Given the description of an element on the screen output the (x, y) to click on. 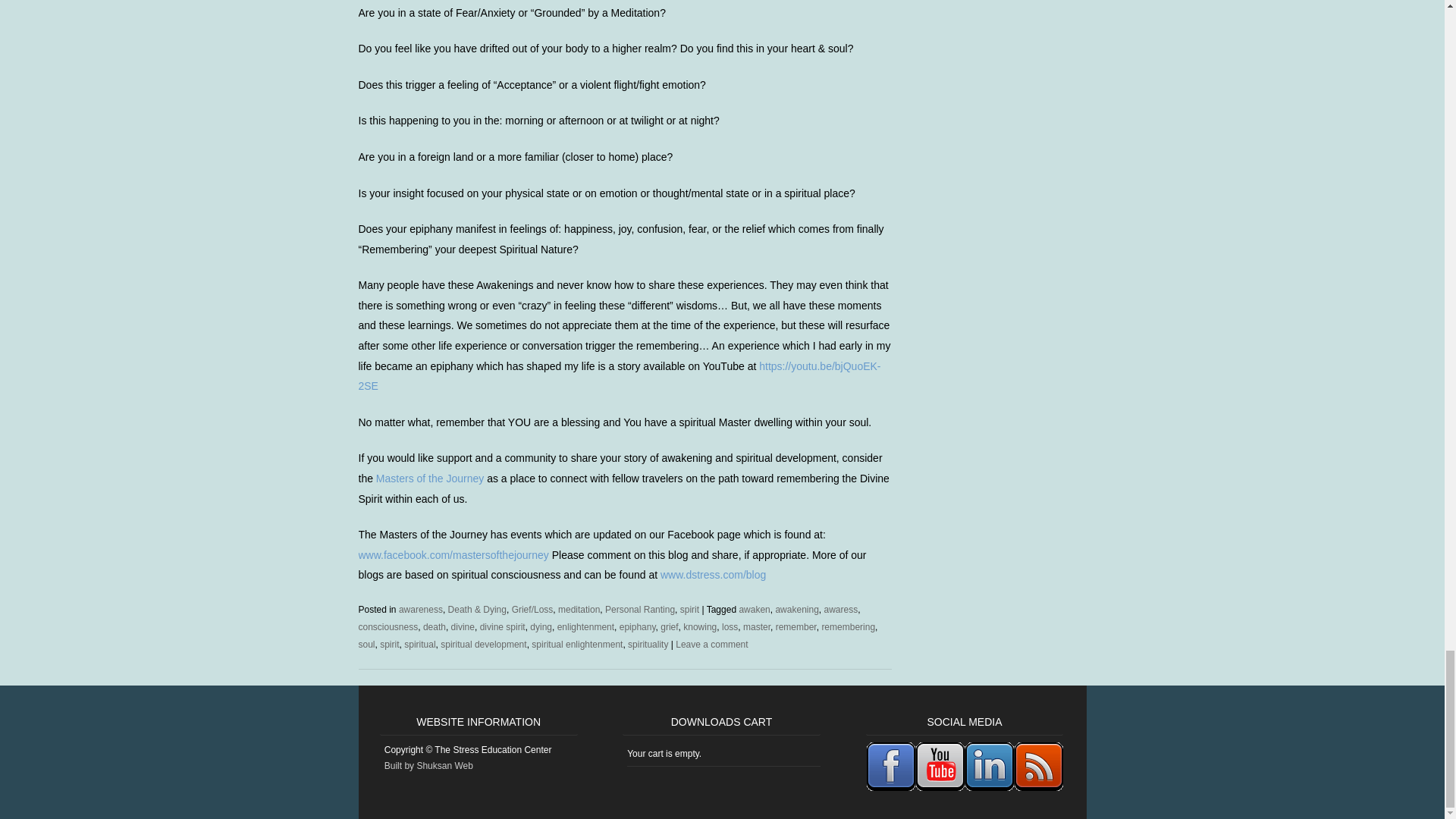
Visit Us On Youtube (939, 787)
Visit Us On Linkedin (988, 787)
Visit Us On Facebook (890, 787)
Check Our Feed (1037, 787)
